Given the description of an element on the screen output the (x, y) to click on. 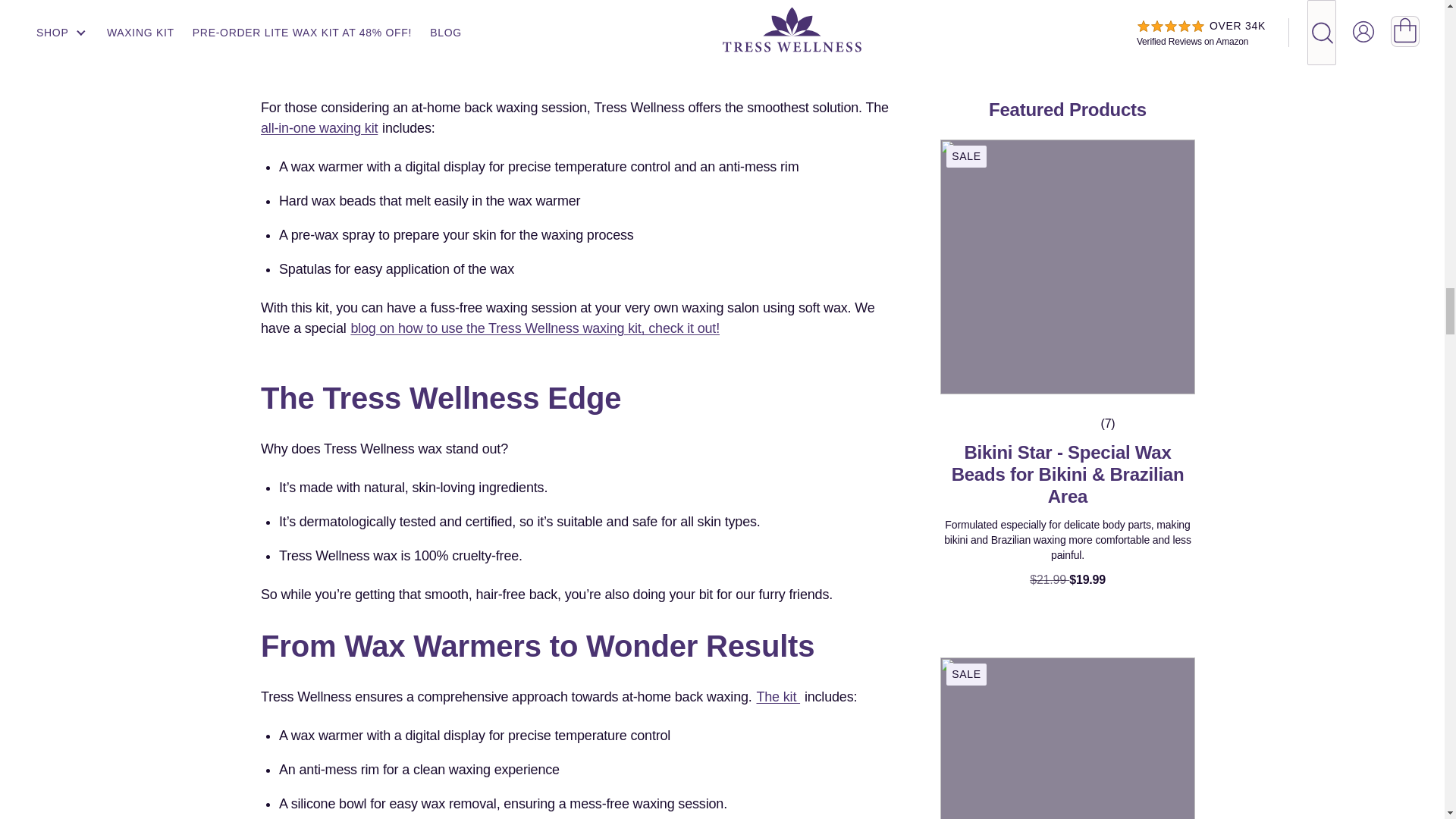
Tress Wellness Waxing Kit (777, 696)
Guide to Tress Wellness Waxing Kit (534, 328)
Tress Wellness Waxing Kit (574, 117)
